Given the description of an element on the screen output the (x, y) to click on. 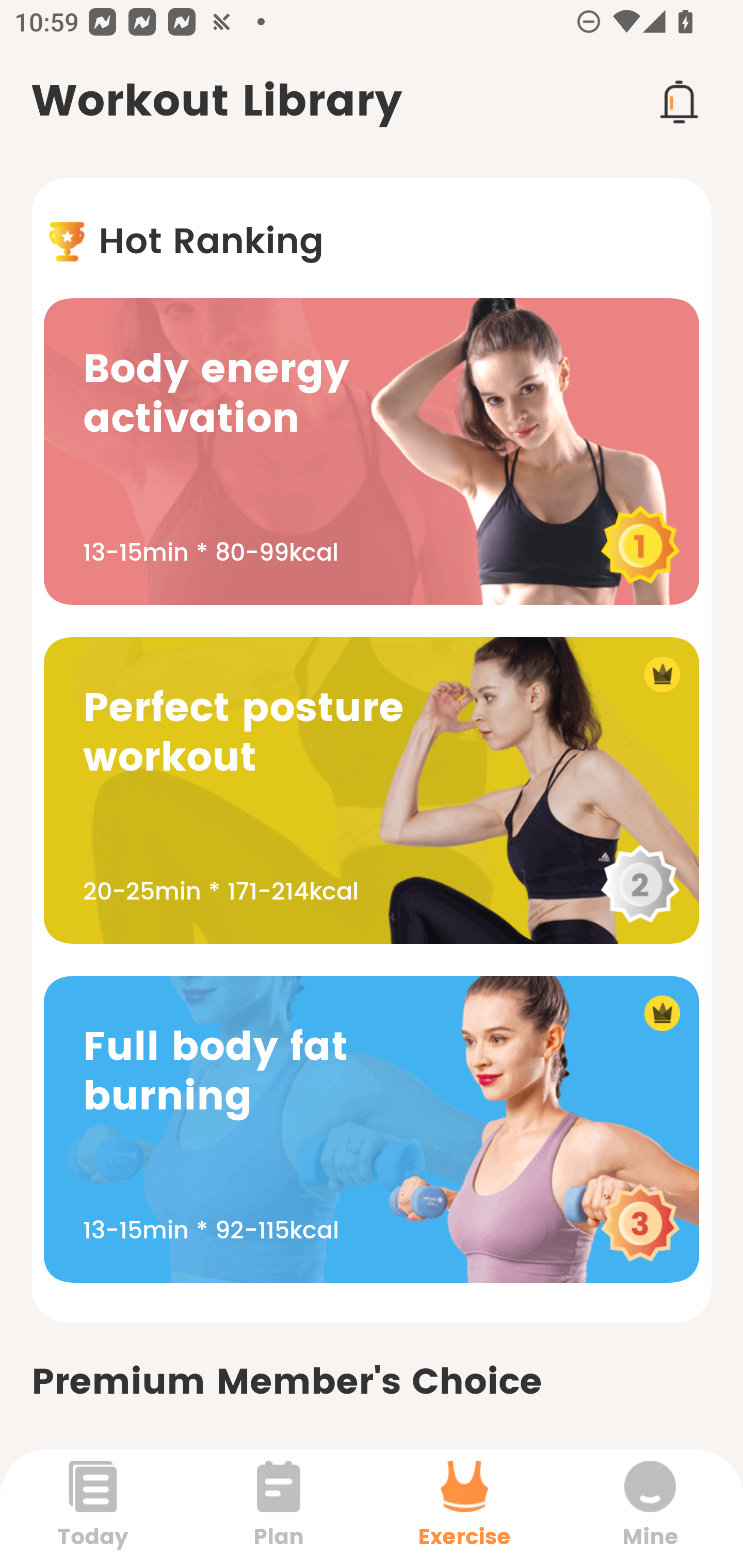
Body energy activation 13-15min * 80-99kcal (371, 451)
Perfect posture workout 20-25min * 171-214kcal (371, 789)
Full body fat burning 13-15min * 92-115kcal (371, 1128)
Today (92, 1508)
Plan (278, 1508)
Mine (650, 1508)
